Given the description of an element on the screen output the (x, y) to click on. 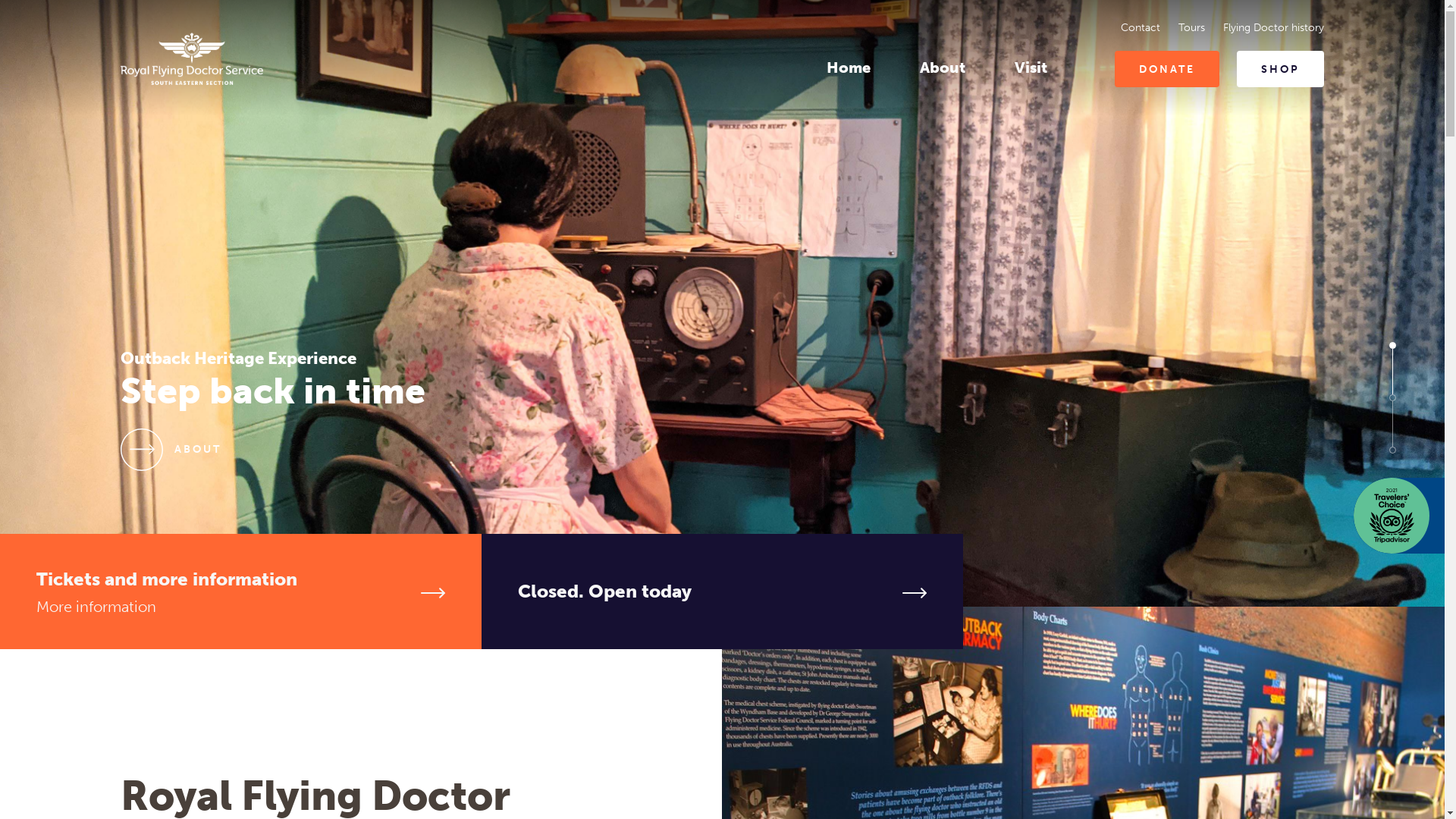
Visit Element type: text (1030, 67)
Flying Doctor history Element type: text (1273, 27)
Home Element type: text (848, 67)
Tickets and more information
More information Element type: text (240, 591)
Tours Element type: text (1191, 27)
SHOP Element type: text (1280, 68)
Closed. Open today Element type: text (722, 591)
Contact Element type: text (1140, 27)
ABOUT Element type: text (170, 449)
DONATE Element type: text (1166, 68)
About Element type: text (942, 67)
